Given the description of an element on the screen output the (x, y) to click on. 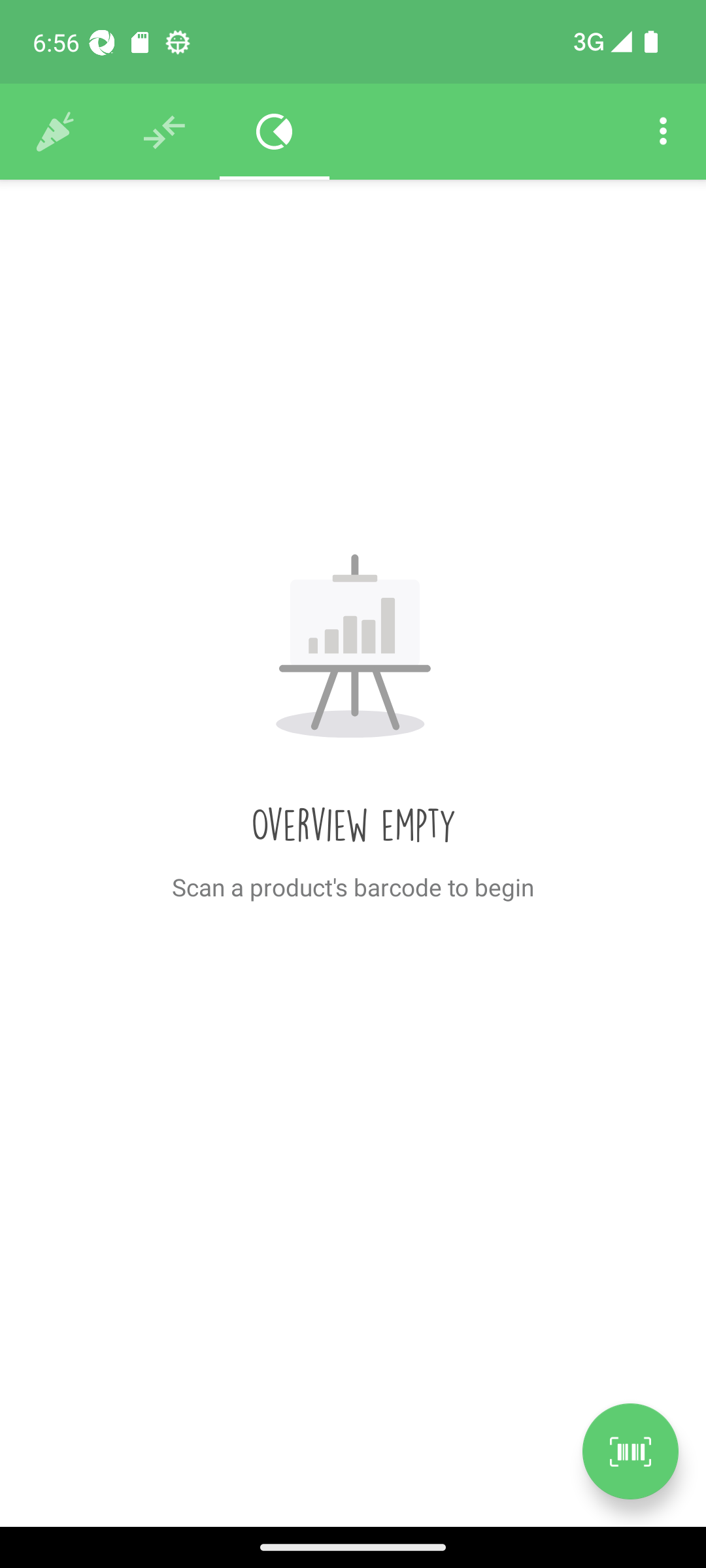
History (55, 131)
Recommendations (164, 131)
Settings (663, 131)
Scan a product (630, 1451)
